Given the description of an element on the screen output the (x, y) to click on. 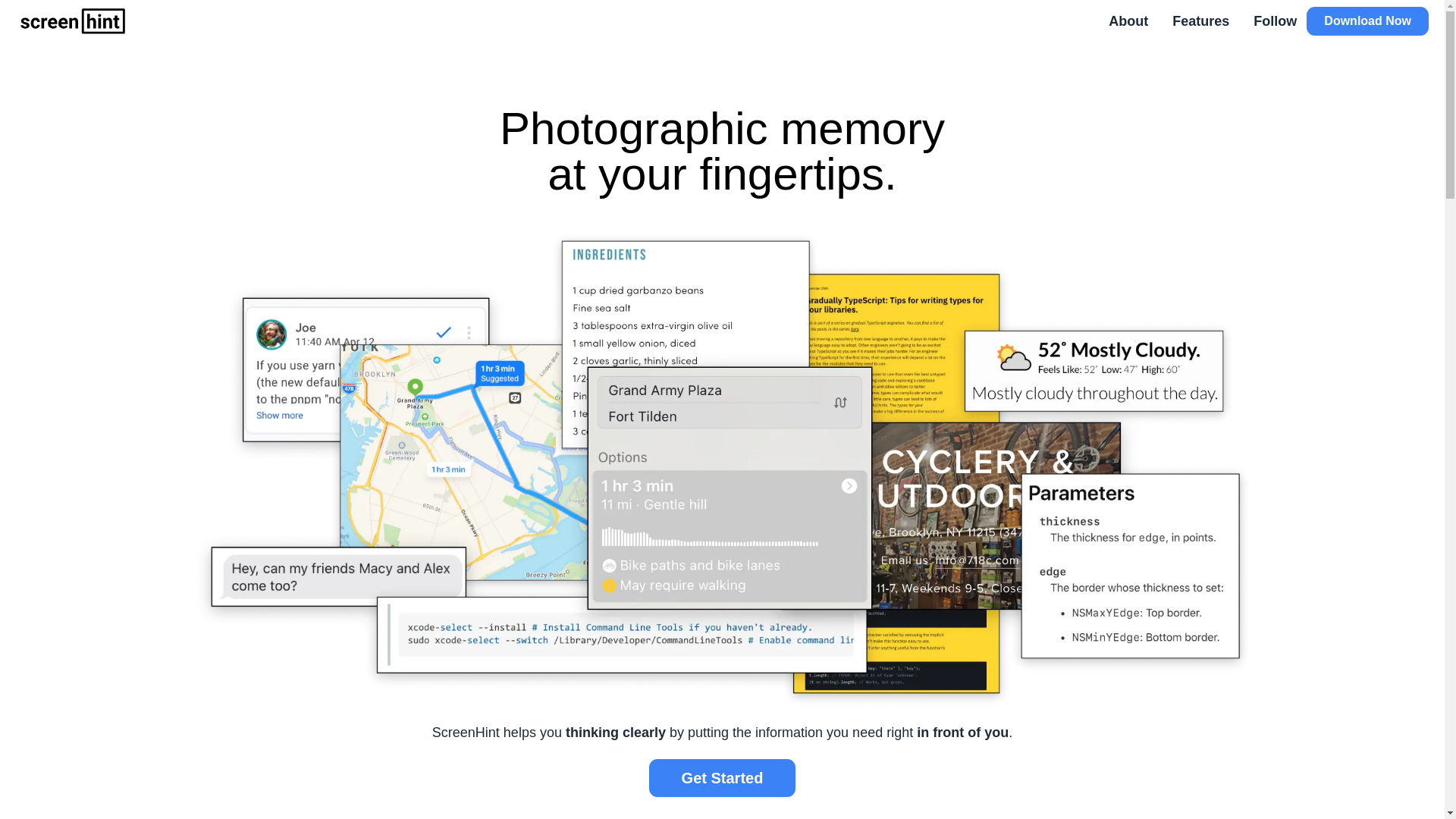
About (1134, 21)
Download Now (1367, 21)
Features (1200, 21)
Follow (1274, 21)
Get Started (721, 777)
